Given the description of an element on the screen output the (x, y) to click on. 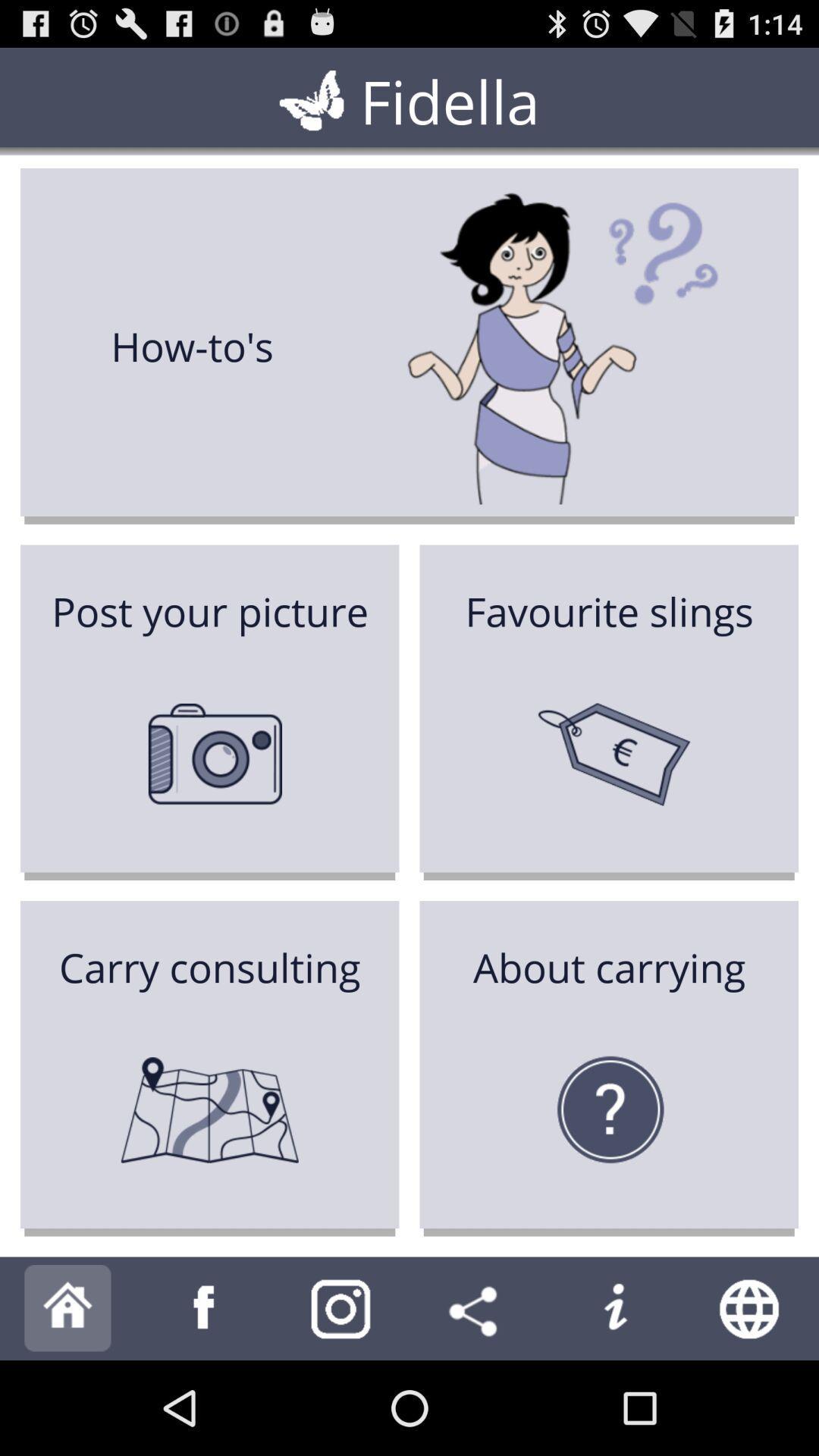
select to home option (68, 1308)
